Given the description of an element on the screen output the (x, y) to click on. 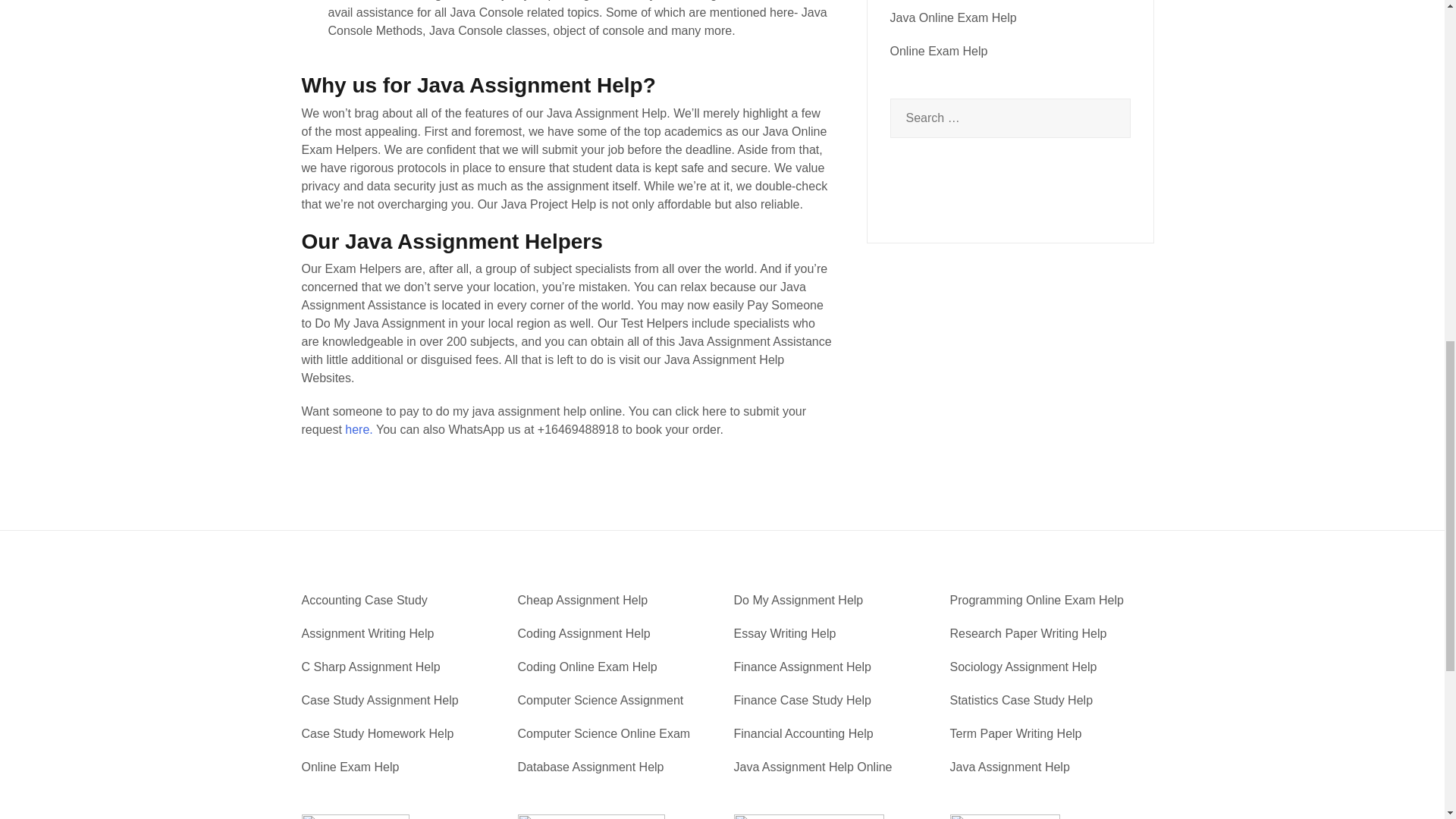
Coding Assignment Help (582, 633)
Case Study Homework Help (377, 733)
Case Study Assignment Help (379, 699)
Coding Online Exam Help (586, 666)
Computer Science Online Exam (603, 733)
Online Exam Help (938, 51)
Java Online Exam Help (952, 17)
Cheap Assignment Help (581, 599)
Online Exam Help (349, 766)
C Sharp Assignment Help (371, 666)
